Given the description of an element on the screen output the (x, y) to click on. 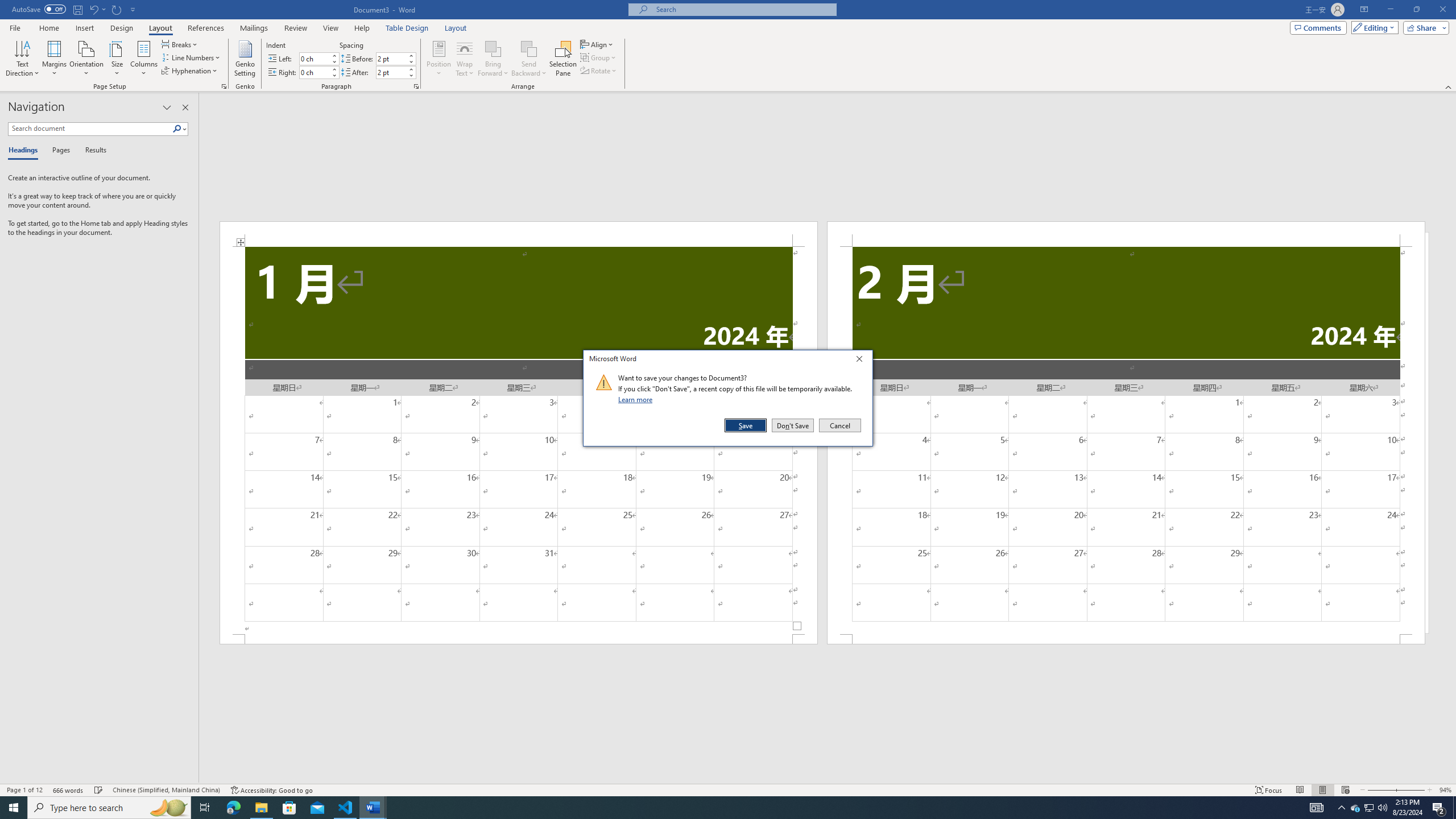
Align (597, 44)
Show desktop (1454, 807)
Zoom In (1410, 790)
Pages (59, 150)
Layout (455, 28)
Search highlights icon opens search home window (167, 807)
Microsoft Edge (233, 807)
Minimize (1390, 9)
Close (862, 360)
Print Layout (1322, 790)
Send Backward (528, 58)
Header -Section 2- (1126, 233)
Repeat Doc Close (117, 9)
